Given the description of an element on the screen output the (x, y) to click on. 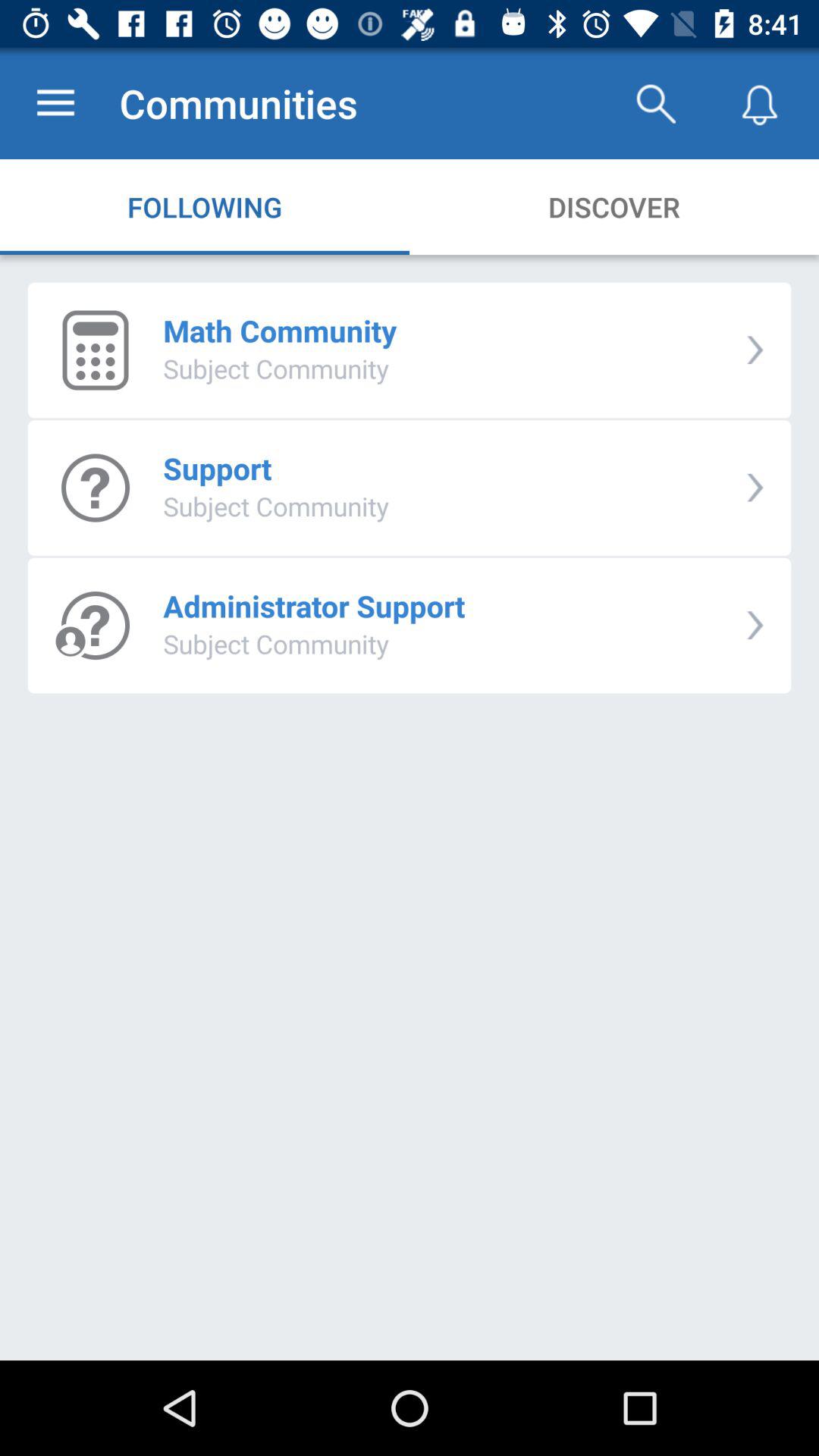
click icon to the right of the math community item (755, 350)
